Given the description of an element on the screen output the (x, y) to click on. 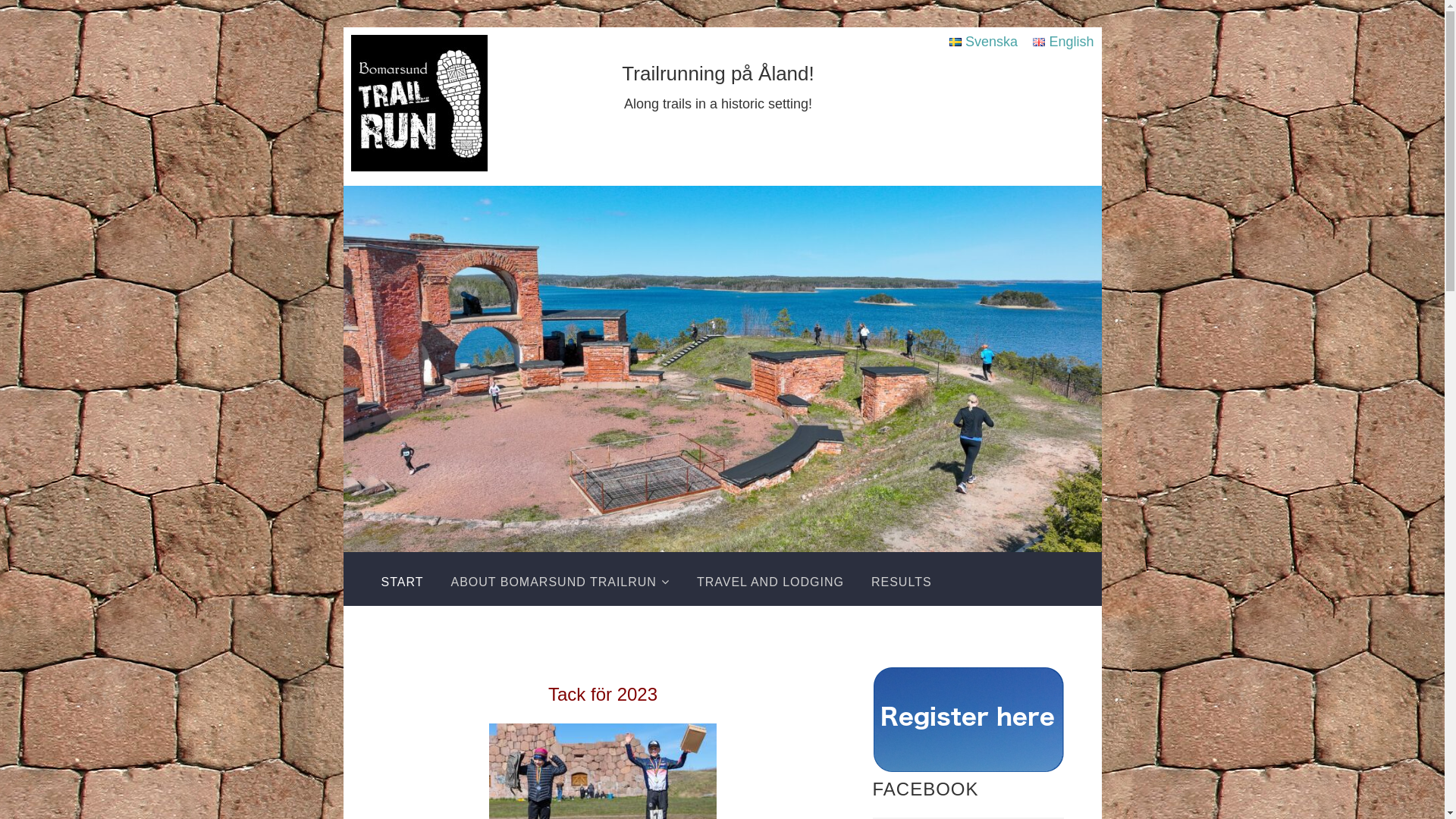
TRAVEL AND LODGING Element type: text (770, 581)
ABOUT BOMARSUND TRAILRUN Element type: text (559, 581)
Skip to content Element type: text (342, 26)
Bomarsund Trail Run Element type: hover (418, 106)
English Element type: text (1062, 41)
START Element type: text (401, 581)
Svenska Element type: text (983, 41)
RESULTS Element type: text (901, 581)
